Given the description of an element on the screen output the (x, y) to click on. 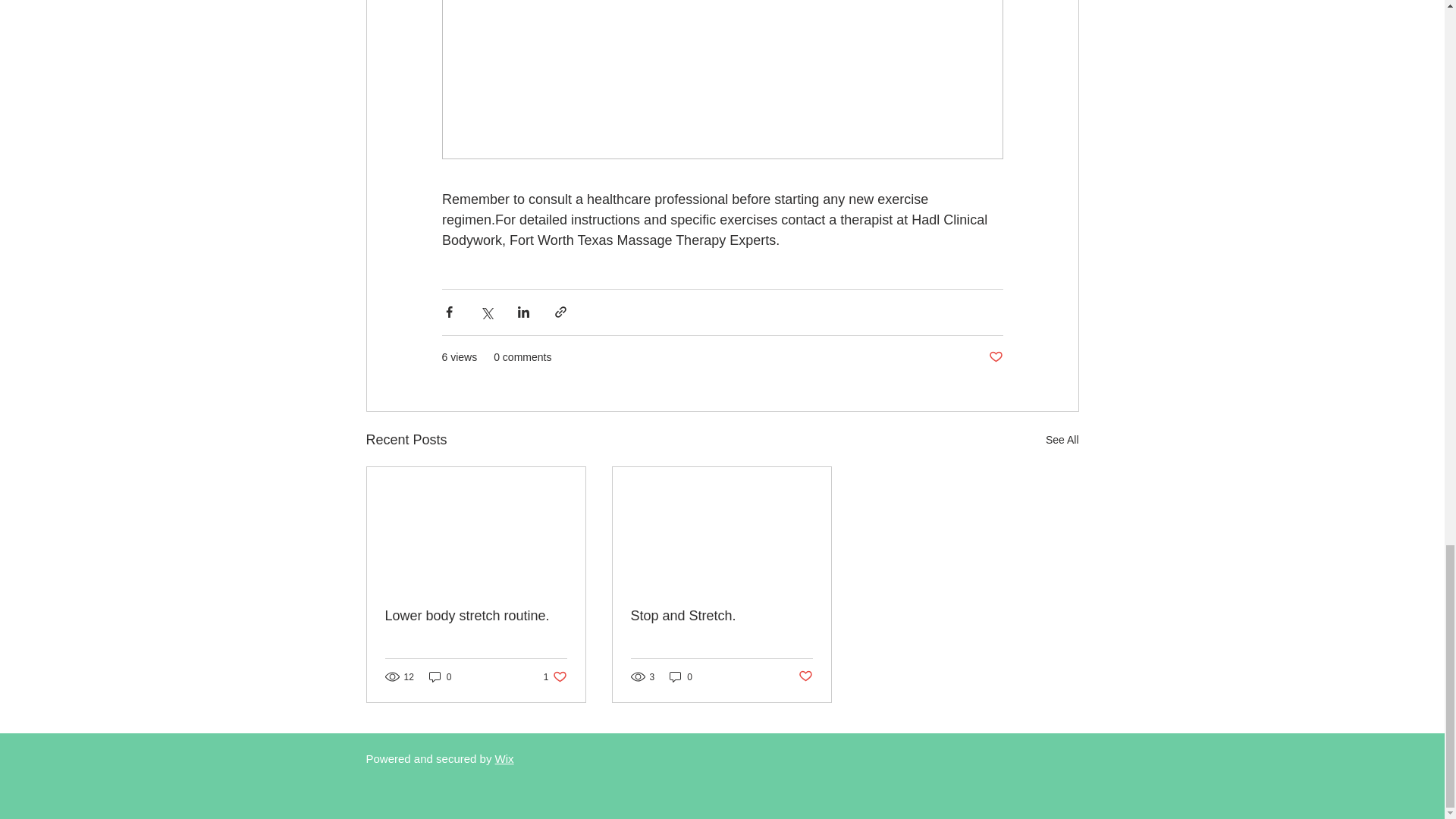
0 (681, 676)
Post not marked as liked (995, 357)
Post not marked as liked (804, 676)
Stop and Stretch. (721, 616)
Wix (504, 758)
Lower body stretch routine. (476, 616)
0 (555, 676)
See All (440, 676)
